Given the description of an element on the screen output the (x, y) to click on. 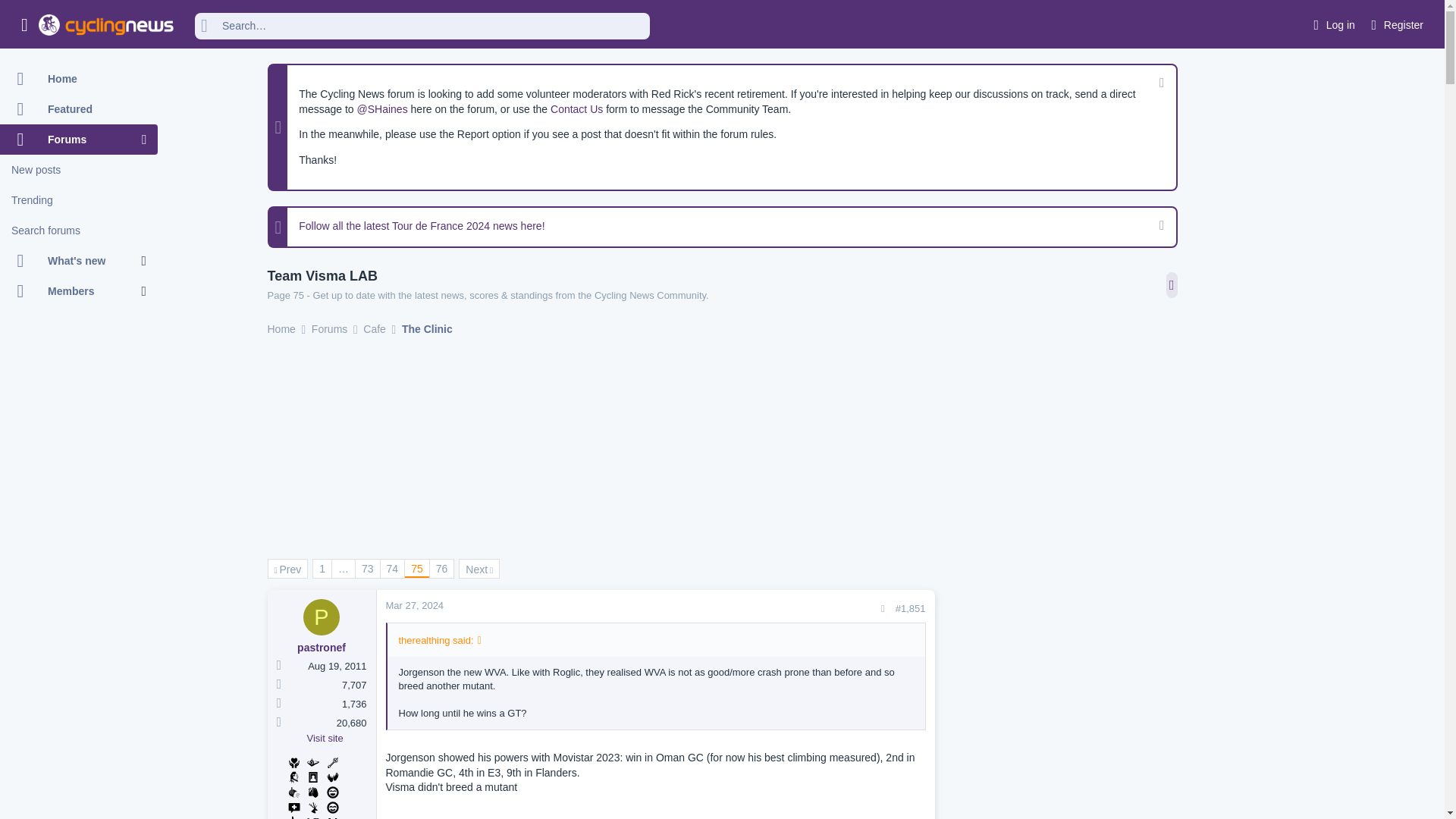
Log in (1332, 24)
Featured (78, 109)
Trending (78, 200)
Register (1395, 24)
What's new (70, 260)
Mar 27, 2024 at 4:38 PM (414, 604)
Forums (70, 139)
Search forums (78, 230)
New posts (78, 169)
Home (78, 78)
